Given the description of an element on the screen output the (x, y) to click on. 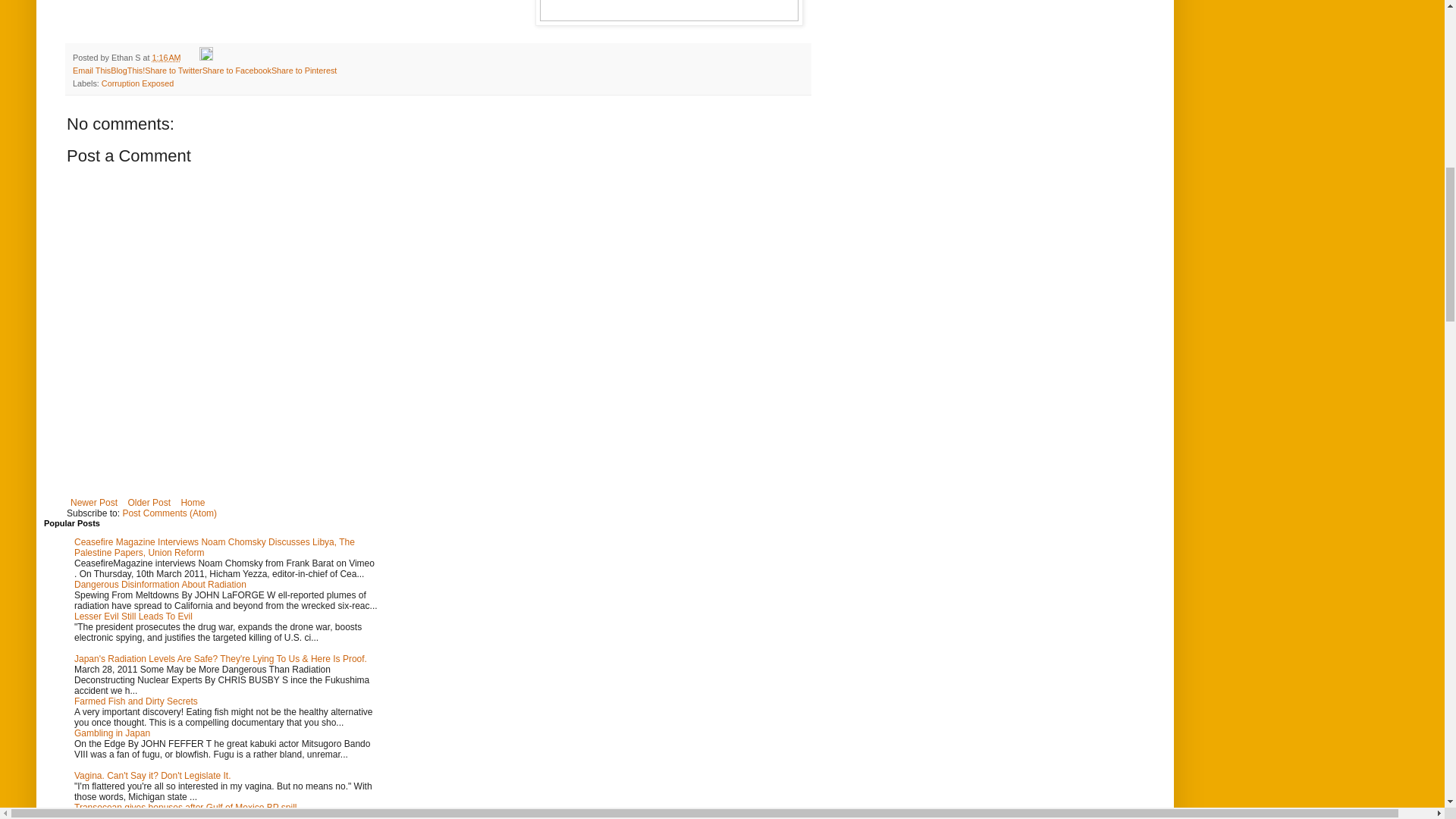
Email This (91, 70)
Corruption Exposed (137, 82)
Share to Pinterest (303, 70)
Share to Facebook (236, 70)
Farmed Fish and Dirty Secrets (136, 701)
Share to Facebook (236, 70)
permanent link (165, 57)
Dangerous Disinformation About Radiation (160, 584)
Share to Twitter (173, 70)
Home (192, 502)
Newer Post (93, 502)
Share to Twitter (173, 70)
Email This (91, 70)
Lesser Evil Still Leads To Evil (133, 615)
